Given the description of an element on the screen output the (x, y) to click on. 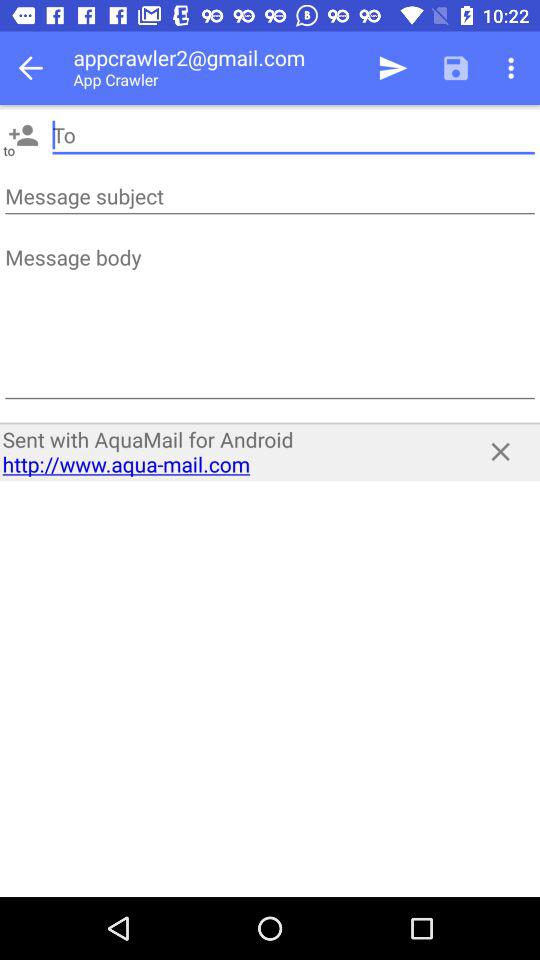
open icon next to the appcrawler2@gmail.com app (36, 68)
